Given the description of an element on the screen output the (x, y) to click on. 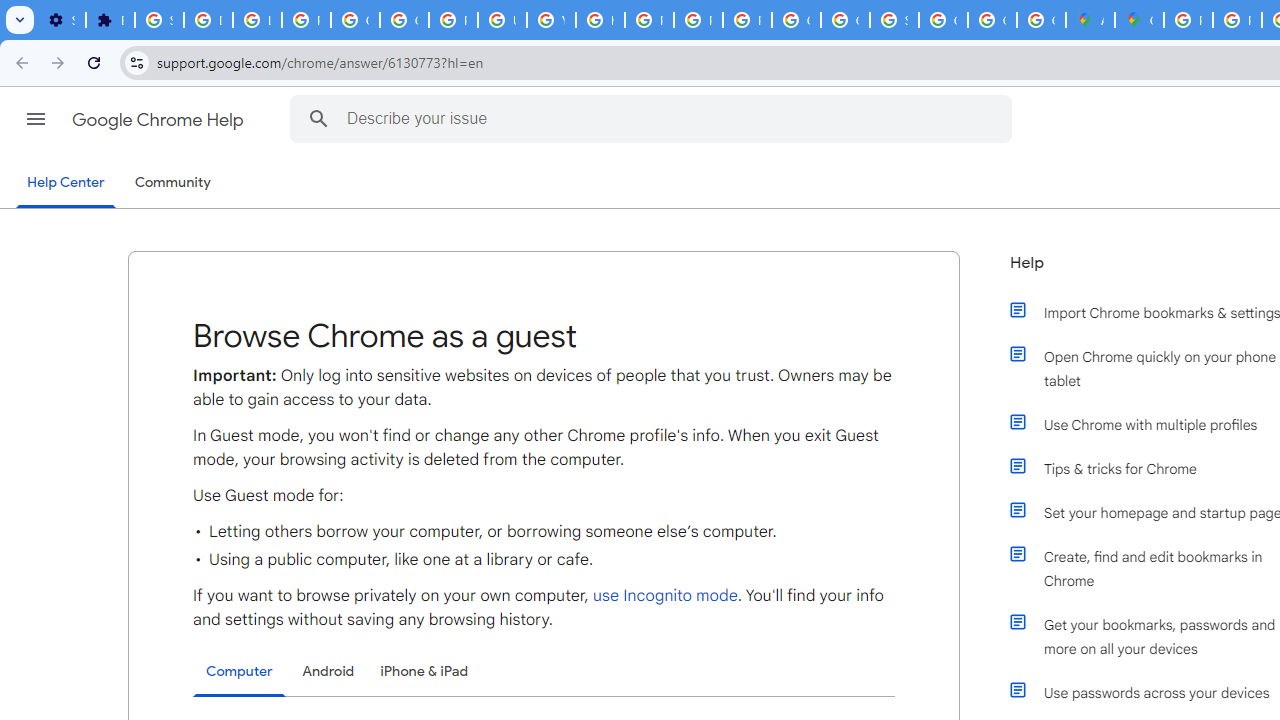
Delete photos & videos - Computer - Google Photos Help (208, 20)
Google Maps (1138, 20)
use Incognito mode (664, 596)
Settings - On startup (61, 20)
